Given the description of an element on the screen output the (x, y) to click on. 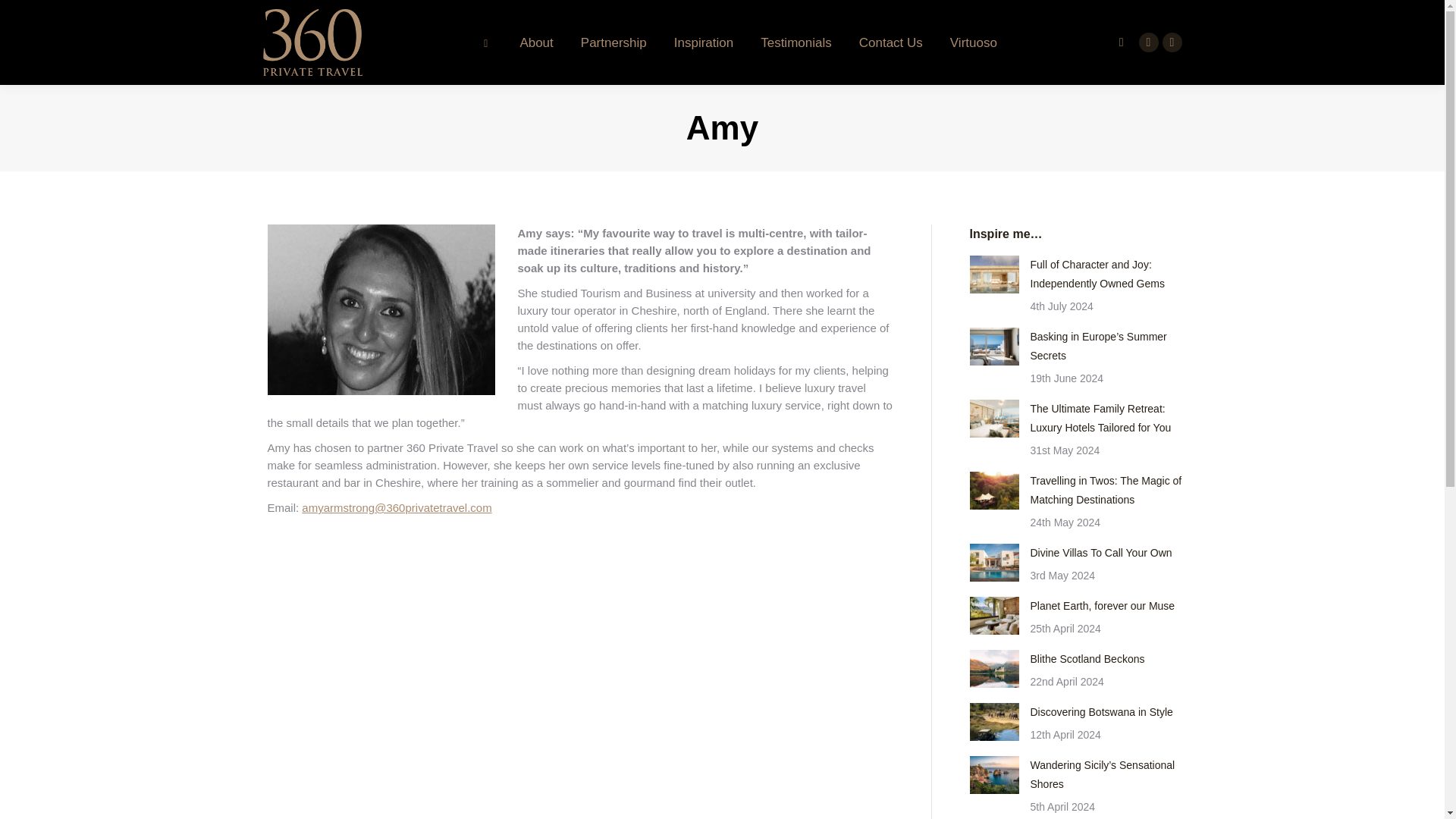
Go! (24, 16)
Virtuoso (973, 42)
About (536, 42)
Testimonials (795, 42)
Instagram page opens in new window (1170, 42)
Instagram page opens in new window (1170, 42)
Facebook page opens in new window (1148, 42)
Facebook page opens in new window (1148, 42)
Partnership (613, 42)
Contact Us (891, 42)
Inspiration (703, 42)
